Given the description of an element on the screen output the (x, y) to click on. 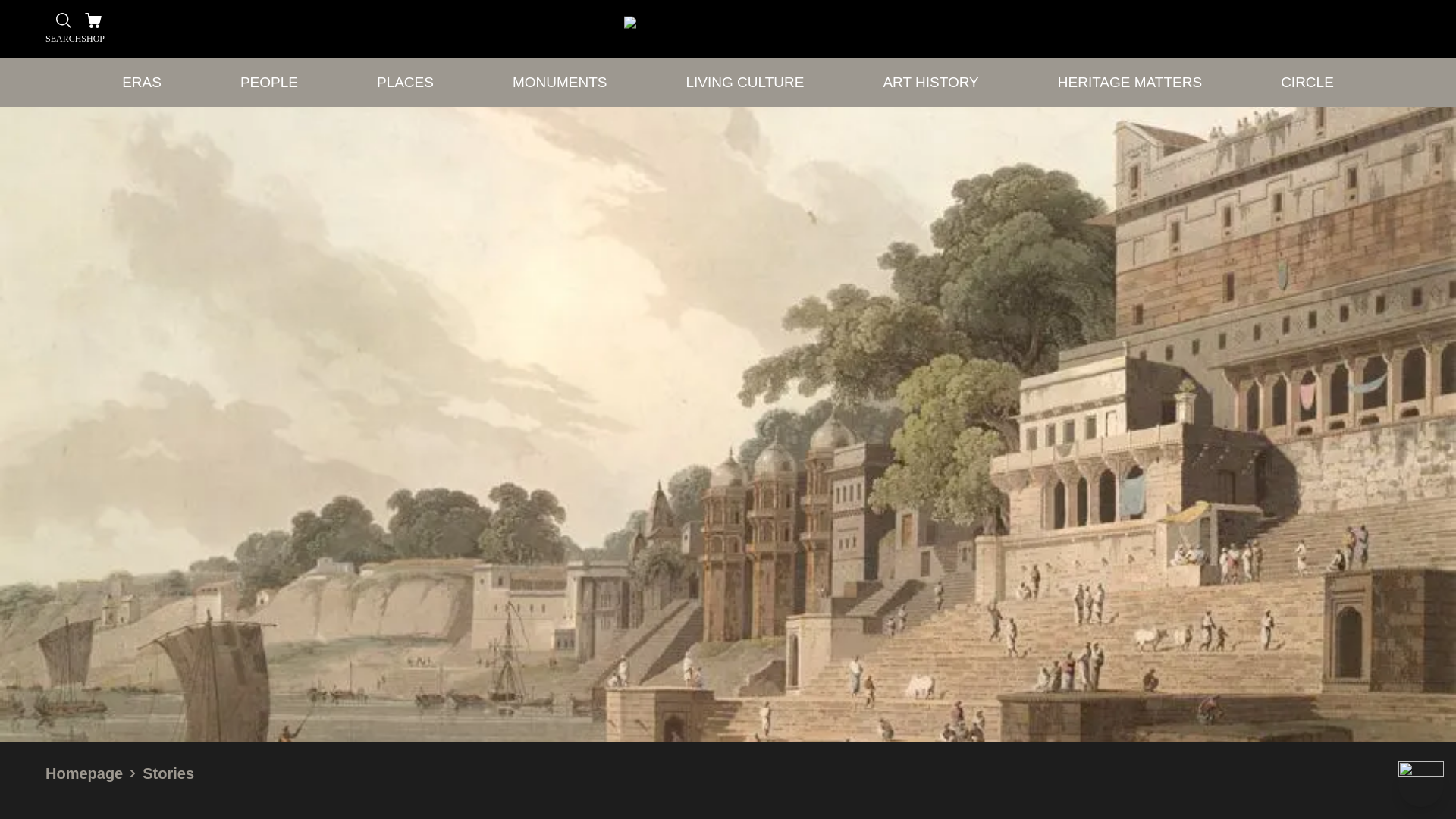
PEOPLE (269, 82)
MONUMENTS (559, 82)
LIVING CULTURE (744, 82)
PLACES (405, 82)
ART HISTORY (930, 82)
